Given the description of an element on the screen output the (x, y) to click on. 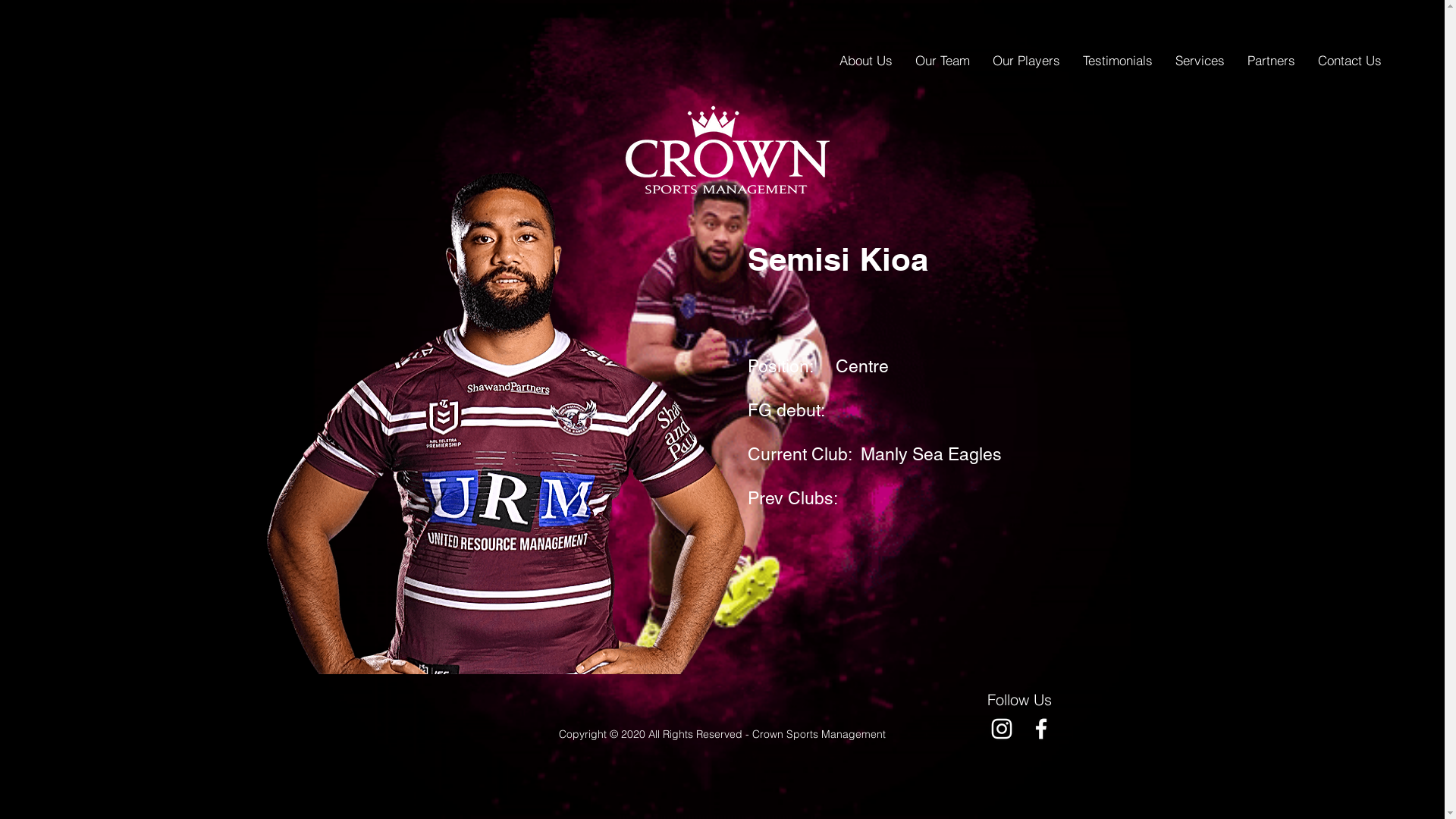
Testimonials Element type: text (1117, 60)
Our Players Element type: text (1026, 60)
Contact Us Element type: text (1349, 60)
Services Element type: text (1200, 60)
Partners Element type: text (1271, 60)
About Us Element type: text (865, 60)
Our Team Element type: text (942, 60)
